Given the description of an element on the screen output the (x, y) to click on. 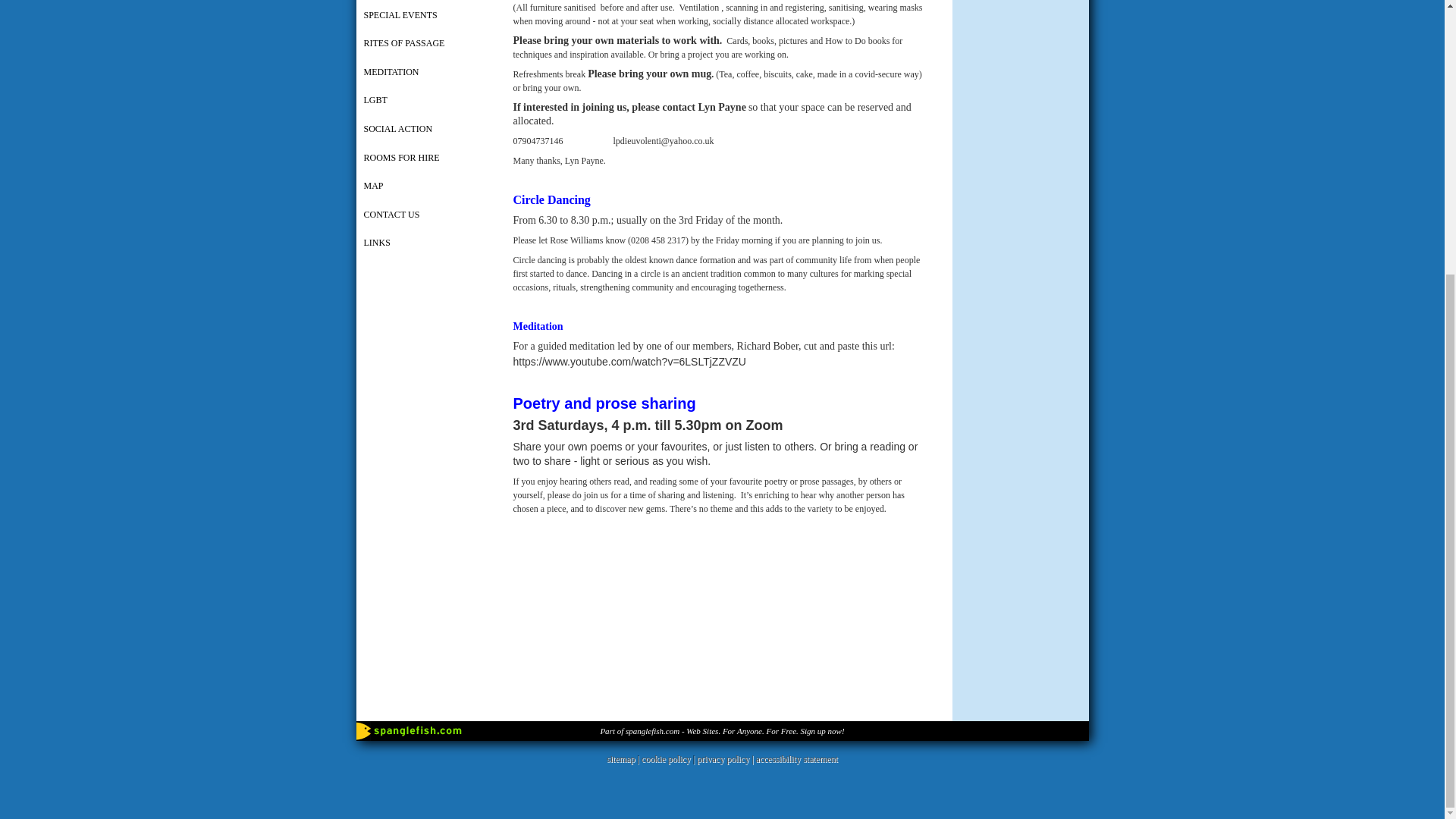
Free website (721, 730)
ROOMS FOR HIRE (424, 158)
MAP (424, 186)
cookie policy (666, 758)
RITES OF PASSAGE (424, 44)
LINKS (424, 244)
REGULAR EVENTS (424, 1)
MEDITATION (424, 72)
SOCIAL ACTION (424, 130)
accessibility statement (796, 758)
sitemap (620, 758)
SPECIAL EVENTS (424, 16)
CONTACT US (424, 215)
LGBT (424, 101)
